Given the description of an element on the screen output the (x, y) to click on. 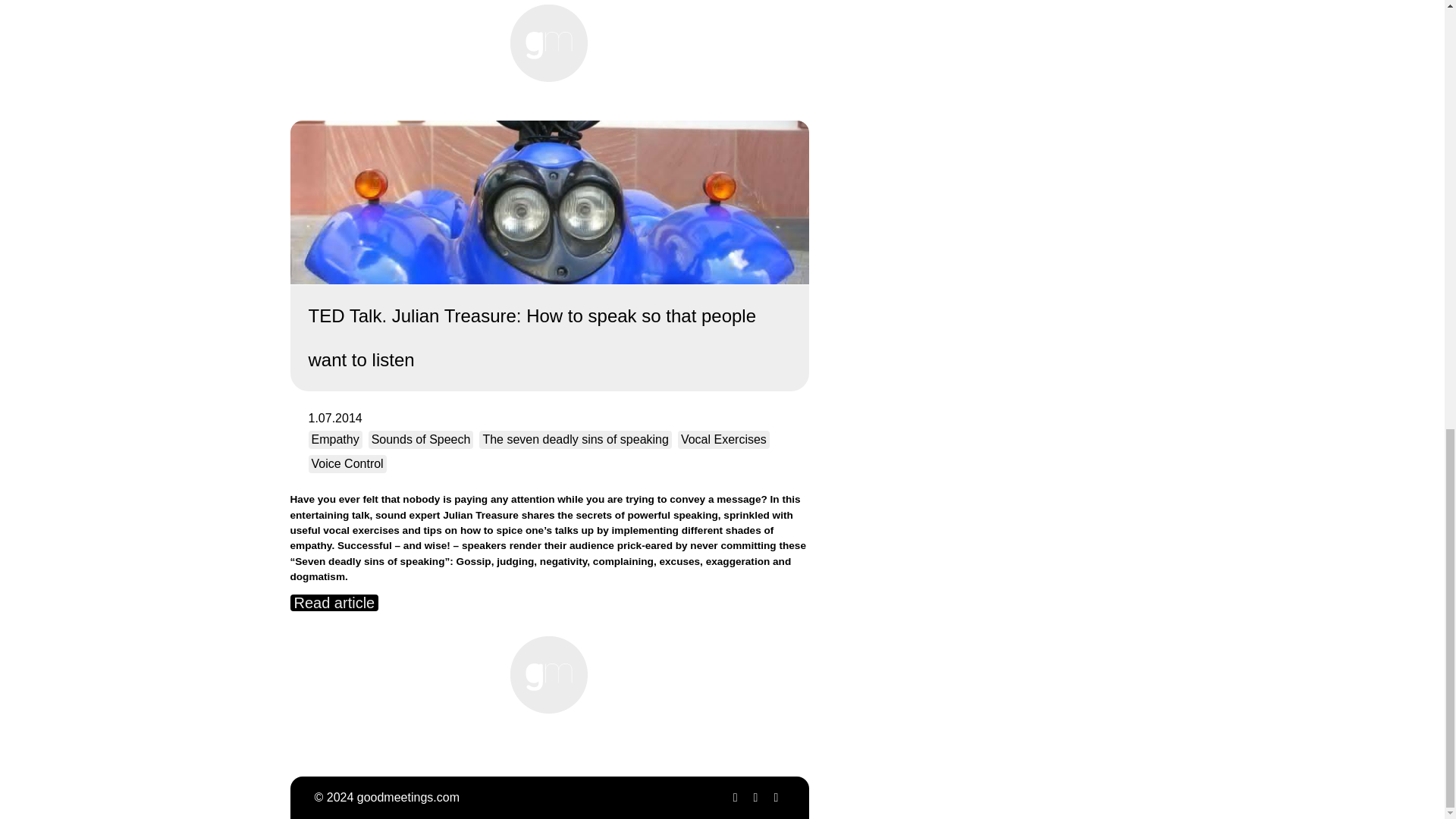
The seven deadly sins of speaking (575, 439)
Voice Control (346, 464)
Empathy (334, 439)
Vocal Exercises (724, 439)
LinkedIn (775, 797)
Facebook (754, 797)
Twitter (734, 797)
Read article (333, 602)
Sounds of Speech (421, 439)
